Given the description of an element on the screen output the (x, y) to click on. 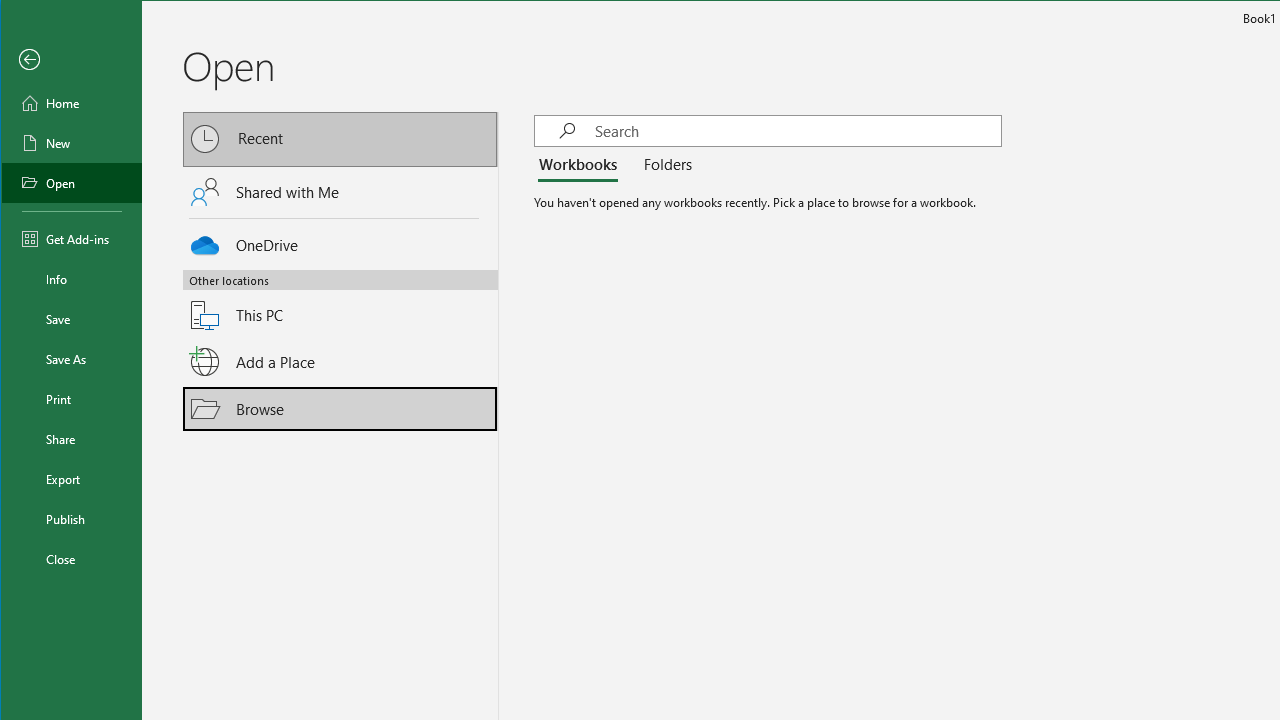
OneDrive (341, 241)
Shared with Me (341, 191)
This PC (341, 303)
Recent (341, 139)
Print (72, 398)
Browse (341, 409)
Publish (72, 518)
Add a Place (341, 361)
Workbooks (581, 165)
Export (72, 478)
